Given the description of an element on the screen output the (x, y) to click on. 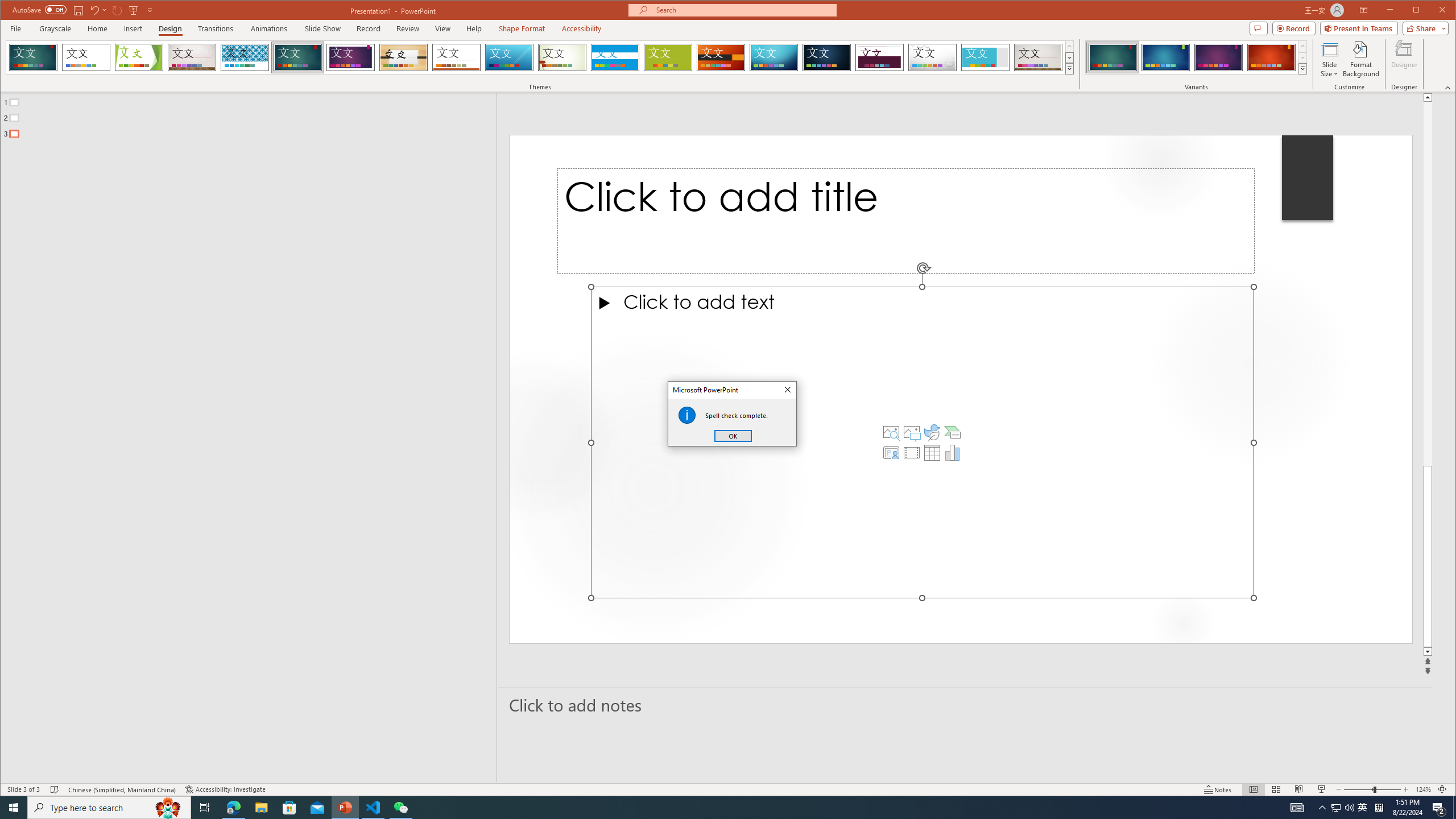
Insert Video (911, 452)
WeChat - 1 running window (400, 807)
Slice (509, 57)
Office Theme (85, 57)
Retrospect (456, 57)
